Given the description of an element on the screen output the (x, y) to click on. 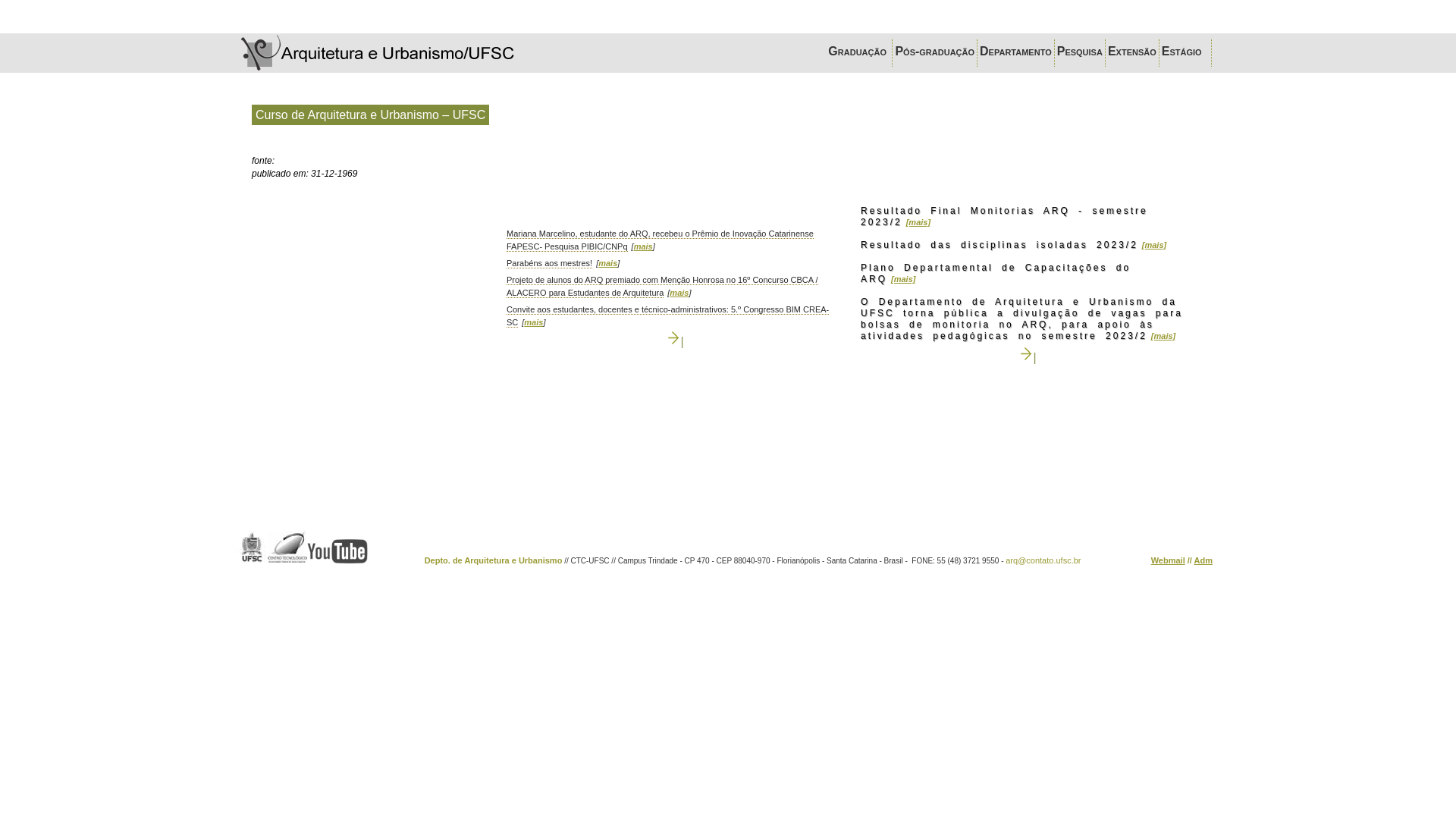
[mais] Element type: text (1154, 245)
Pesquisa Element type: text (1079, 52)
mais Element type: text (607, 263)
mais Element type: text (642, 246)
mais Element type: text (678, 293)
Webmail Element type: text (1168, 561)
Departamento Element type: text (1015, 52)
[mais] Element type: text (918, 222)
mais Element type: text (533, 322)
[mais] Element type: text (903, 279)
Adm Element type: text (1203, 561)
[mais] Element type: text (1163, 336)
